Given the description of an element on the screen output the (x, y) to click on. 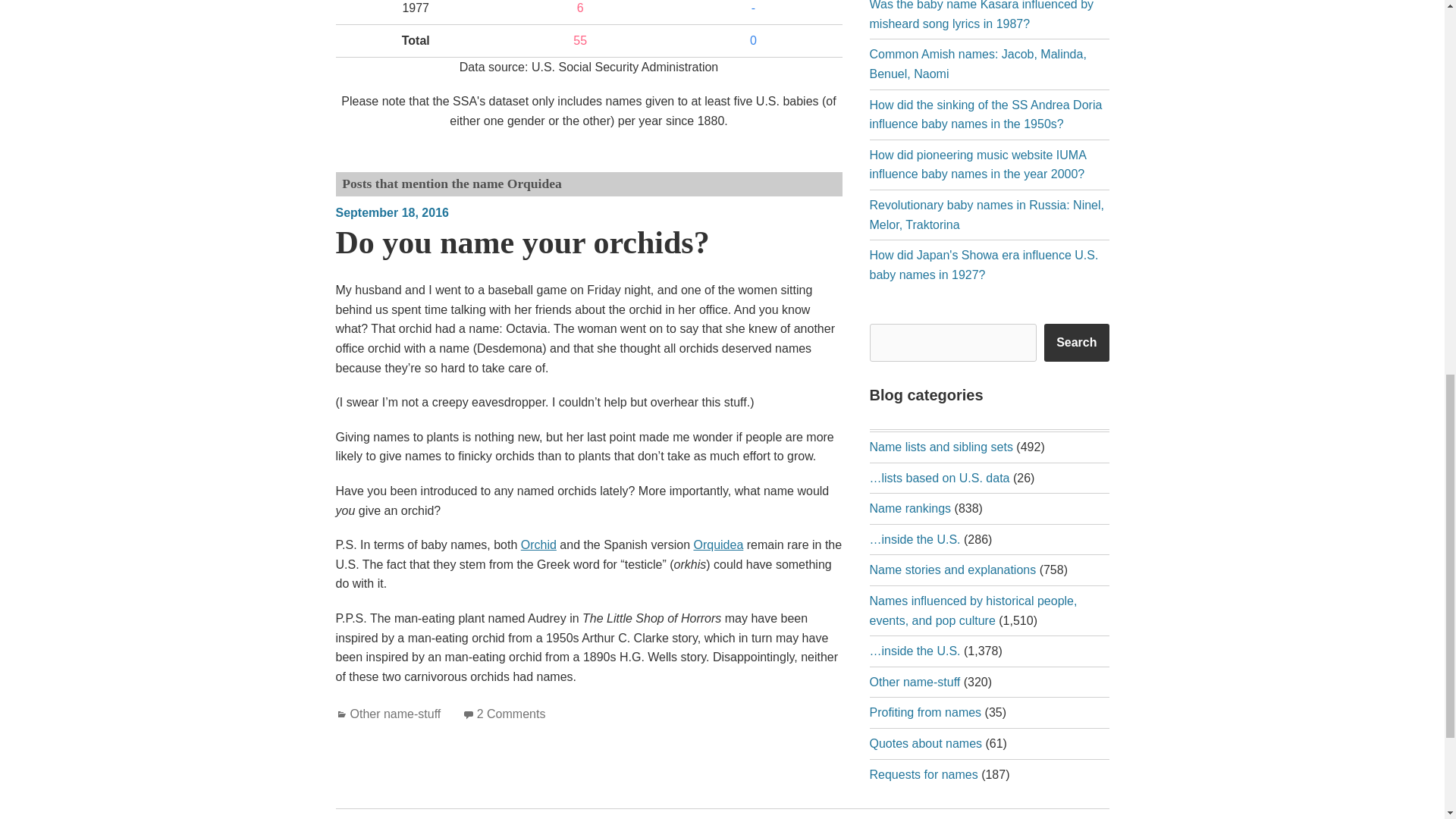
Other name-stuff (395, 713)
Do you name your orchids? (521, 242)
Orchid (538, 544)
Revolutionary baby names in Russia: Ninel, Melor, Traktorina (986, 214)
Name rankings (909, 508)
Name stories and explanations (952, 569)
2 Comments (511, 713)
How did Japan's Showa era influence U.S. baby names in 1927? (983, 264)
